Given the description of an element on the screen output the (x, y) to click on. 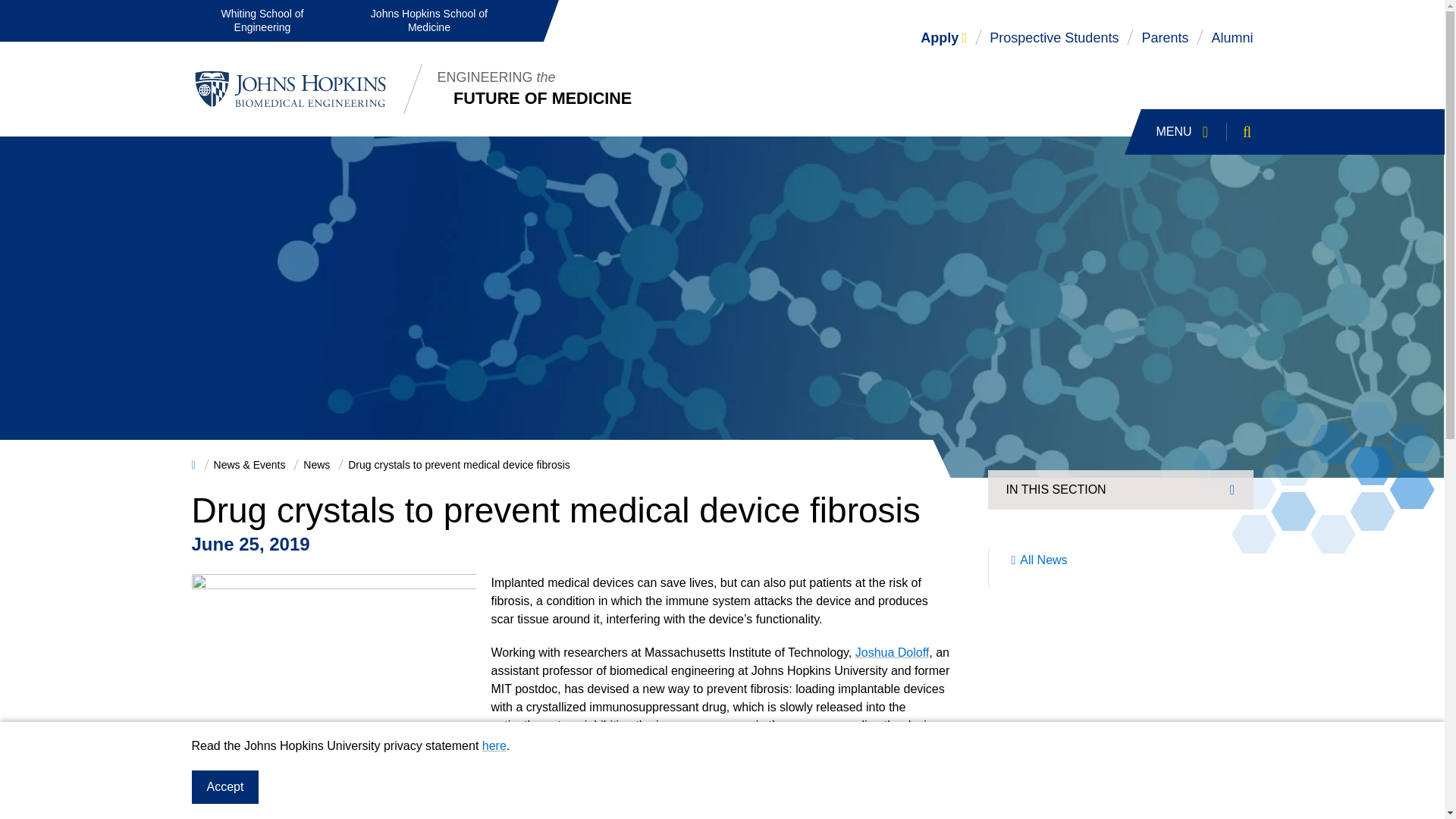
Apply (943, 37)
Johns Hopkins Biomedical Engineering (289, 88)
Parents (1164, 37)
Whiting School of Engineering (1209, 131)
Go to News. (261, 20)
Skip to Content (316, 464)
Alumni (15, 9)
Prospective Students (1231, 37)
Go to Drug crystals to prevent medical device fibrosis. (1054, 37)
Johns Hopkins School of Medicine (458, 464)
